Given the description of an element on the screen output the (x, y) to click on. 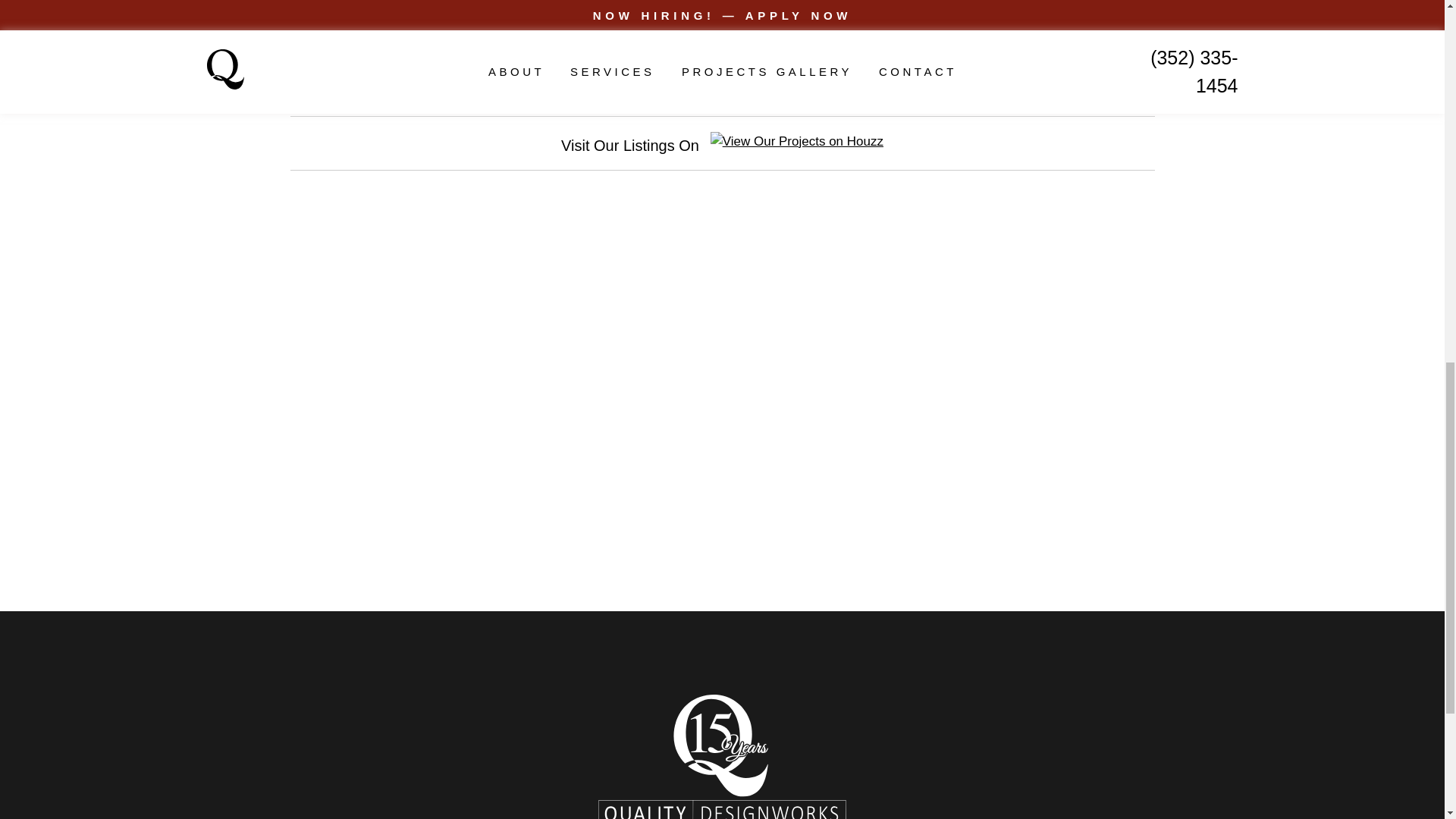
After Image10 (1173, 647)
After Image5 (1173, 26)
After Image9 (1173, 515)
After Image8 (1173, 383)
After Image6 (1173, 120)
After Image7 (1173, 252)
